Given the description of an element on the screen output the (x, y) to click on. 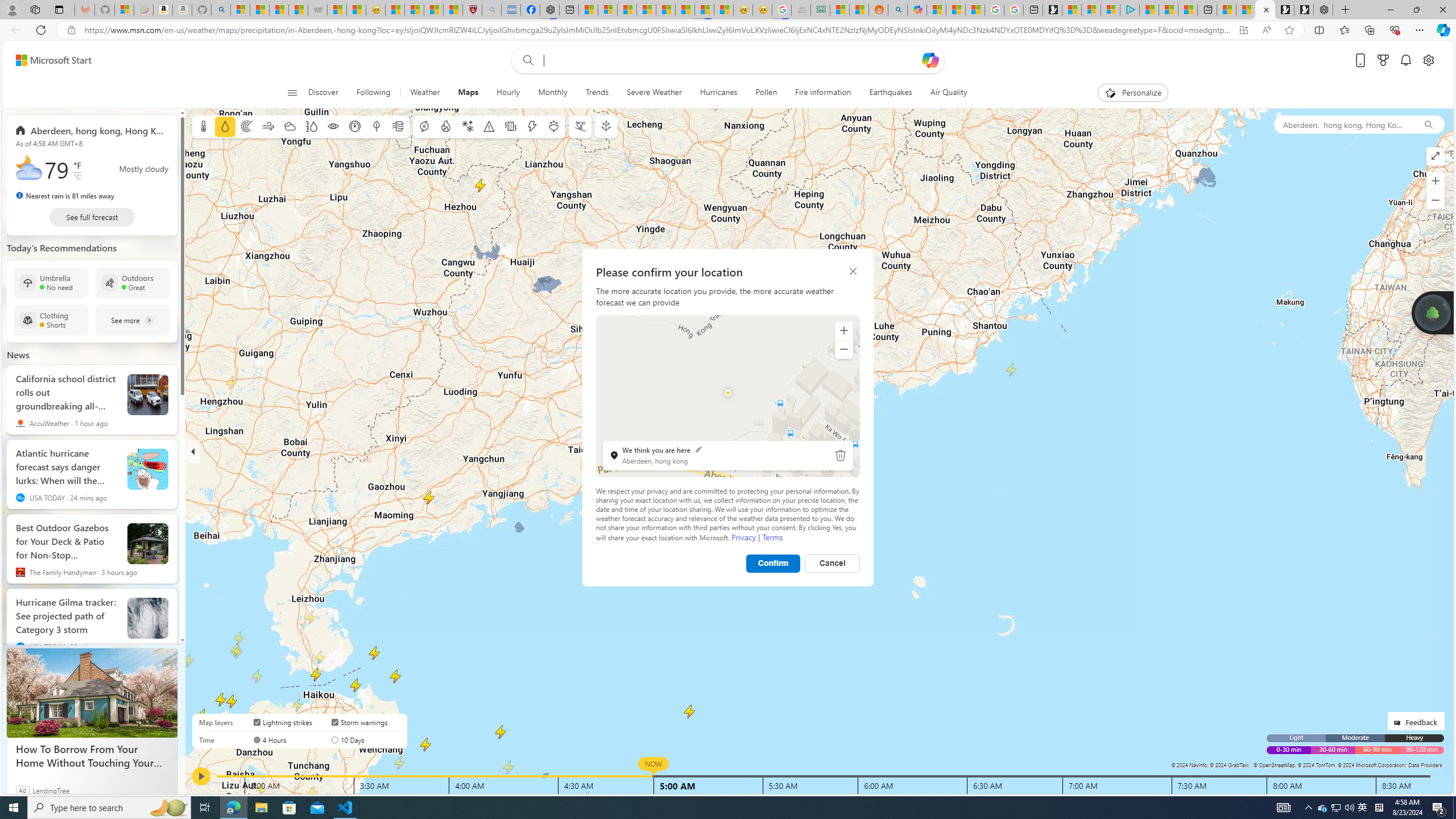
Hurricanes (718, 92)
Air Quality (948, 92)
Address and search bar (658, 29)
Science - MSN (433, 9)
Class: feedback_link_icon-DS-EntryPoint1-1 (1399, 722)
Outdoors Great (133, 282)
Microsoft Start (1168, 9)
Feedback (1415, 720)
Enter full screen mode (1435, 156)
Monthly (552, 92)
Navy Quest (800, 9)
Hurricane (423, 126)
